Given the description of an element on the screen output the (x, y) to click on. 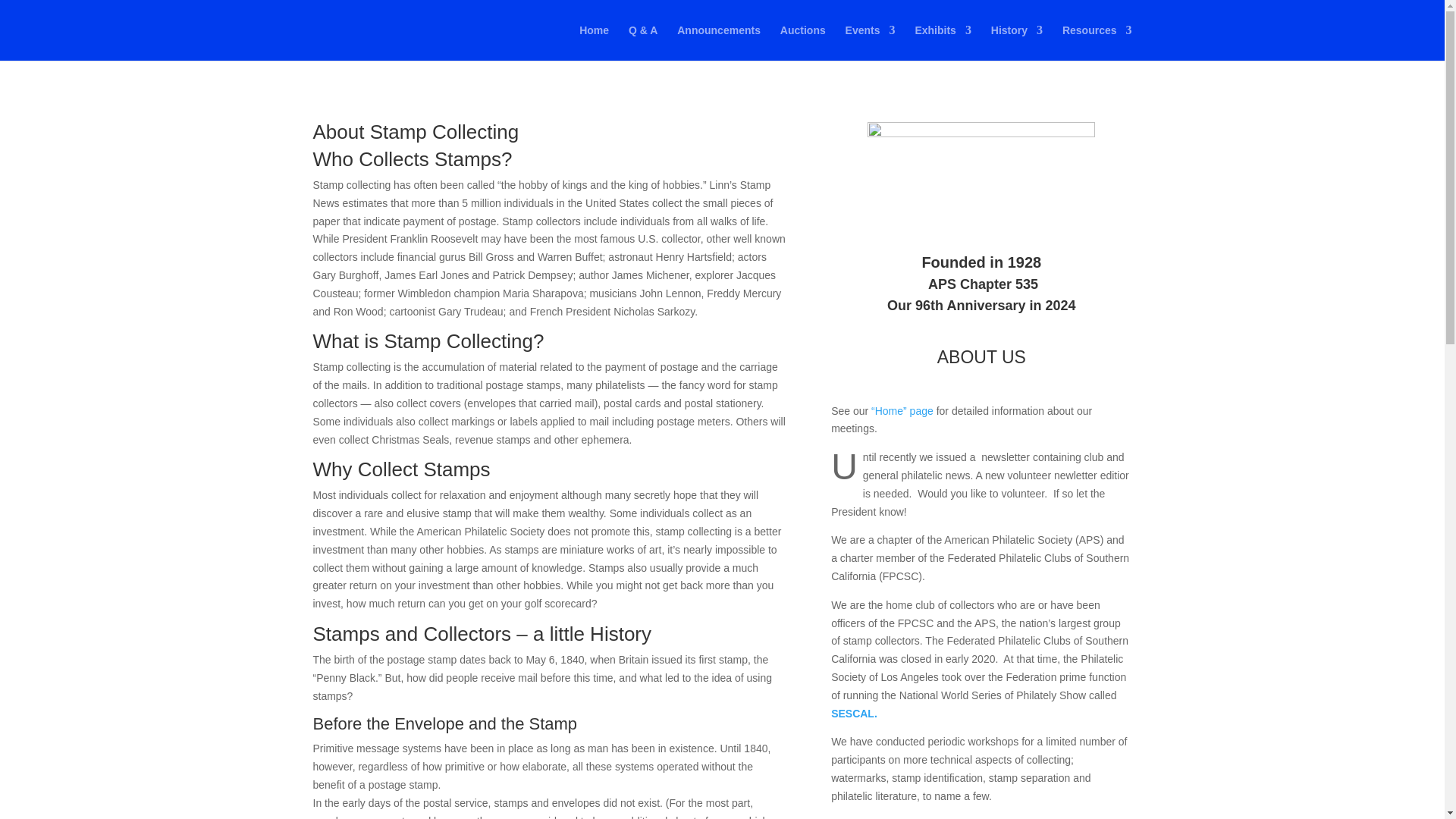
Events (870, 42)
Announcements (718, 42)
Exhibits (942, 42)
SESCAL. (854, 713)
Auctions (802, 42)
Resources (1097, 42)
History (1016, 42)
